Given the description of an element on the screen output the (x, y) to click on. 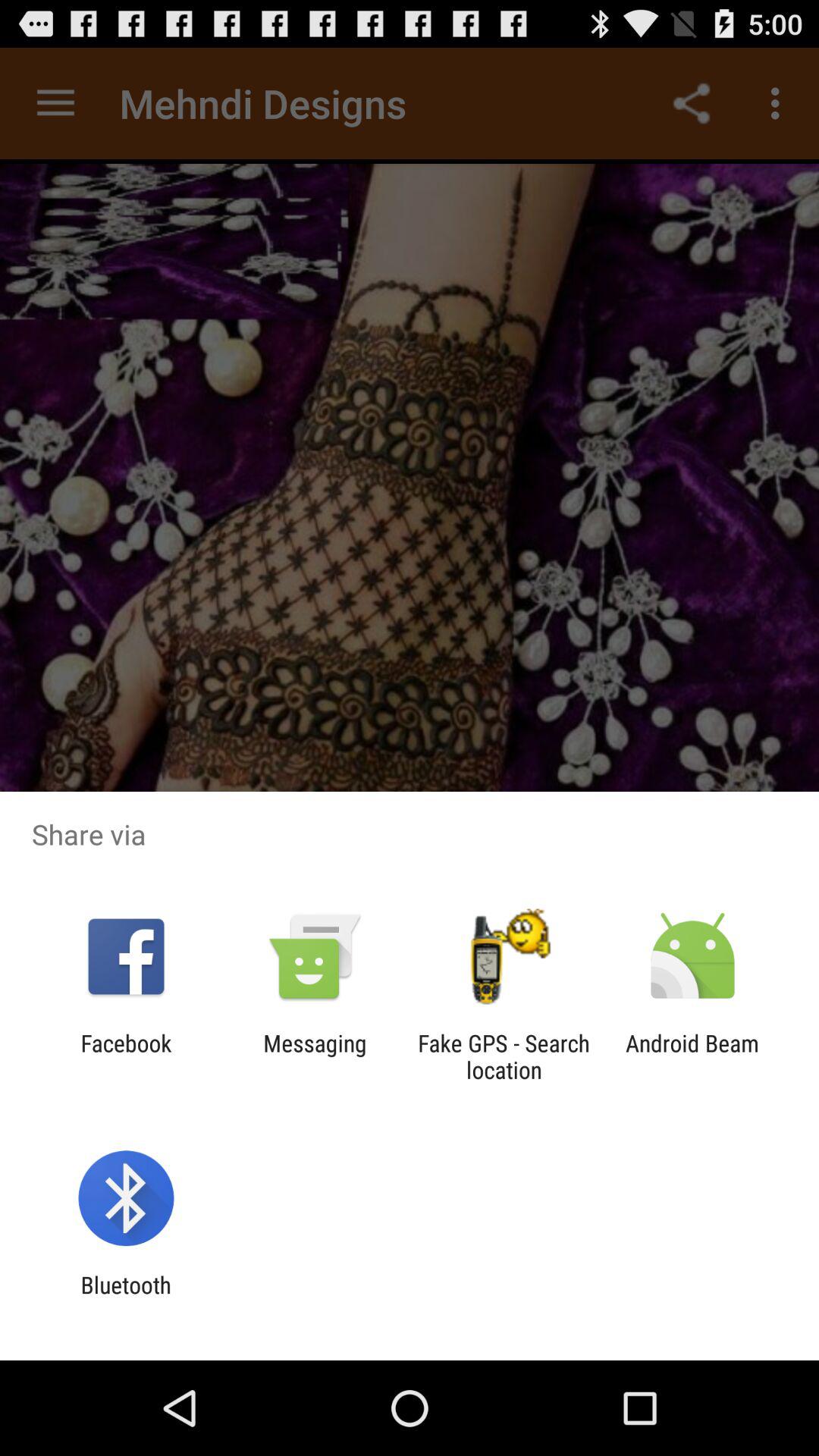
click the icon to the left of android beam app (503, 1056)
